Given the description of an element on the screen output the (x, y) to click on. 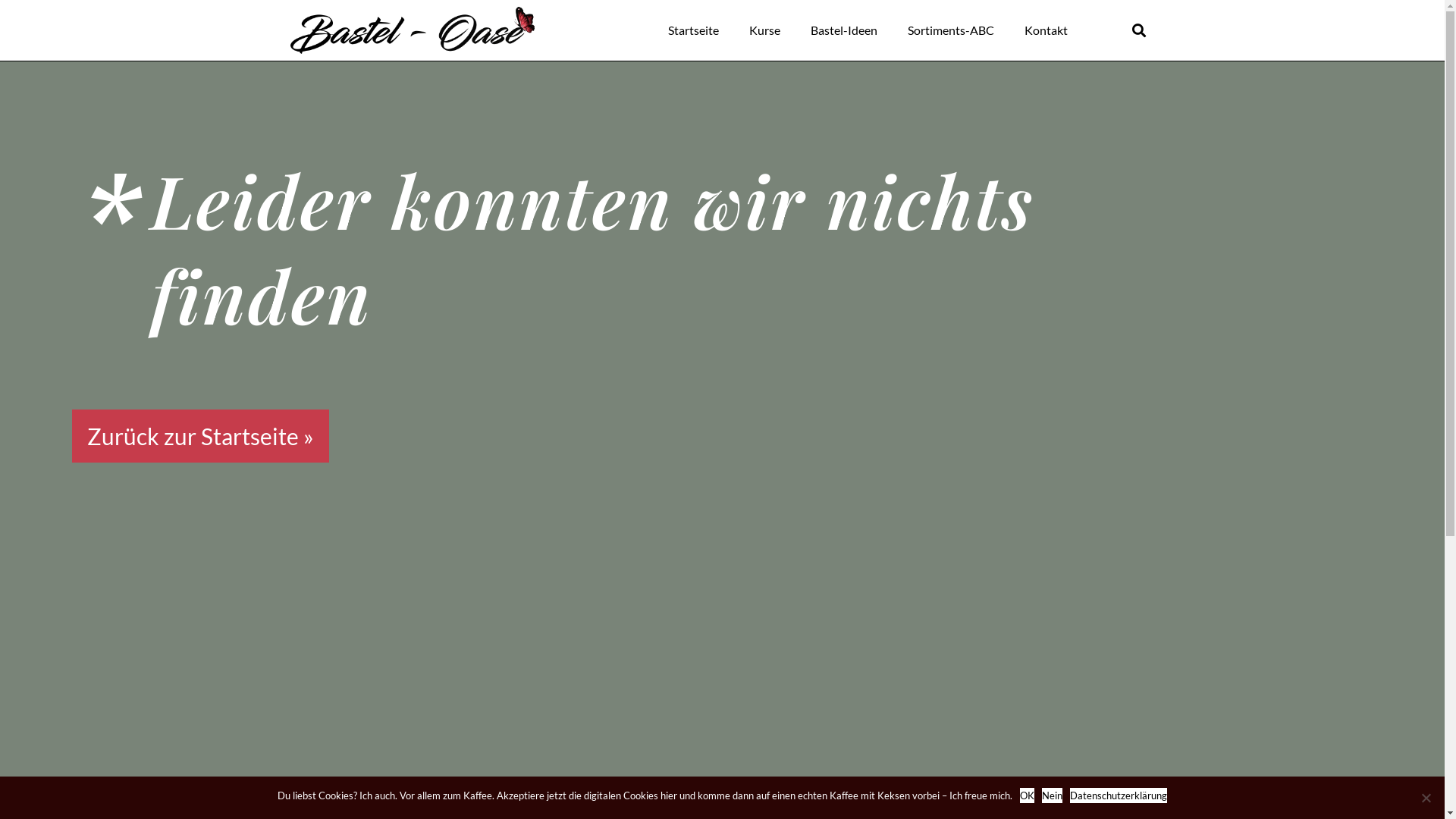
Nein Element type: text (1051, 795)
Kontakt Element type: text (1045, 30)
Bastel-Ideen Element type: text (843, 30)
Kurse Element type: text (764, 30)
OK Element type: text (1026, 795)
Nein Element type: hover (1425, 797)
Sortiments-ABC Element type: text (950, 30)
Startseite Element type: text (693, 30)
